Given the description of an element on the screen output the (x, y) to click on. 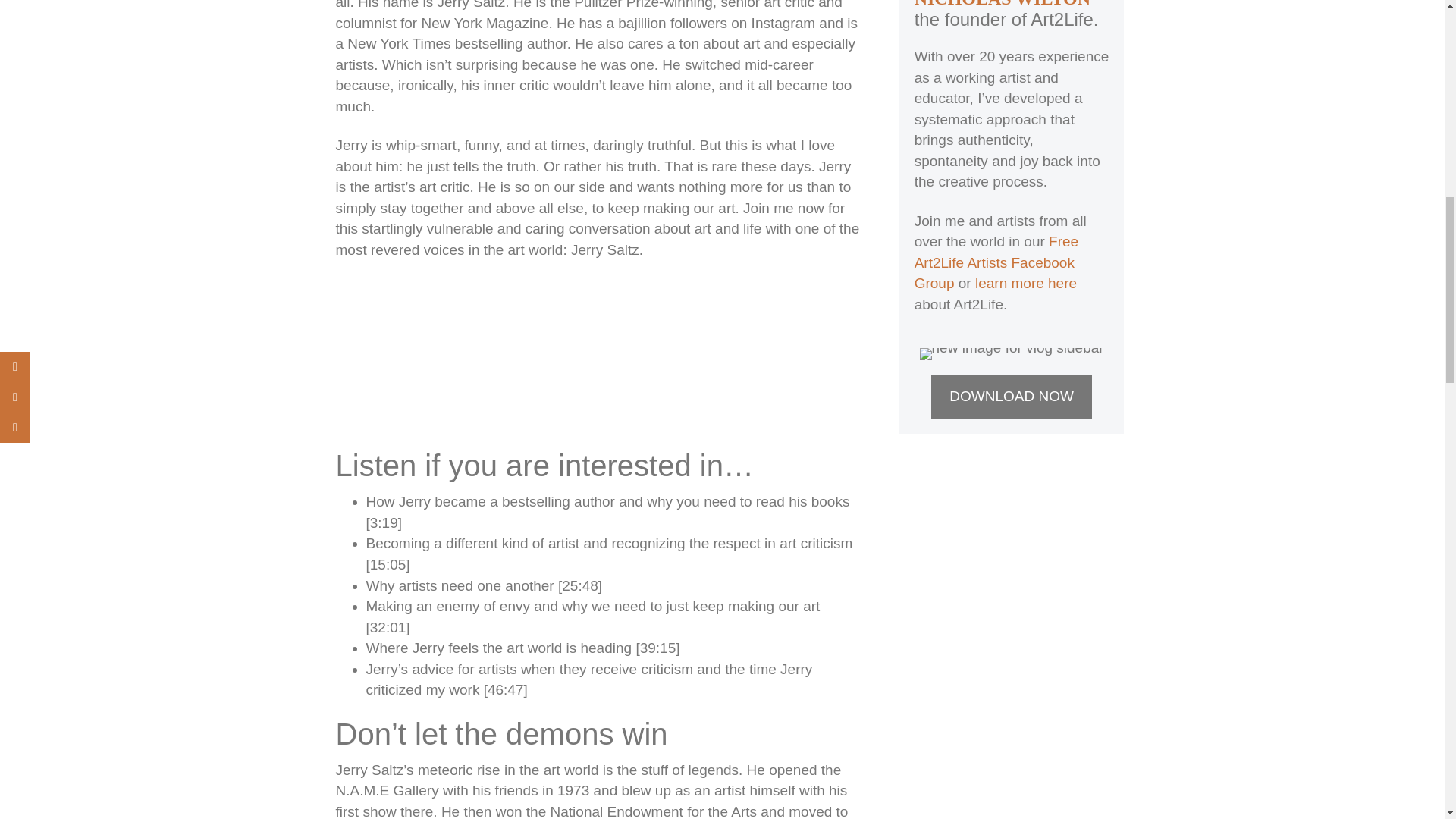
Embed Player (597, 351)
new image for vlog sidebar (1011, 354)
